Given the description of an element on the screen output the (x, y) to click on. 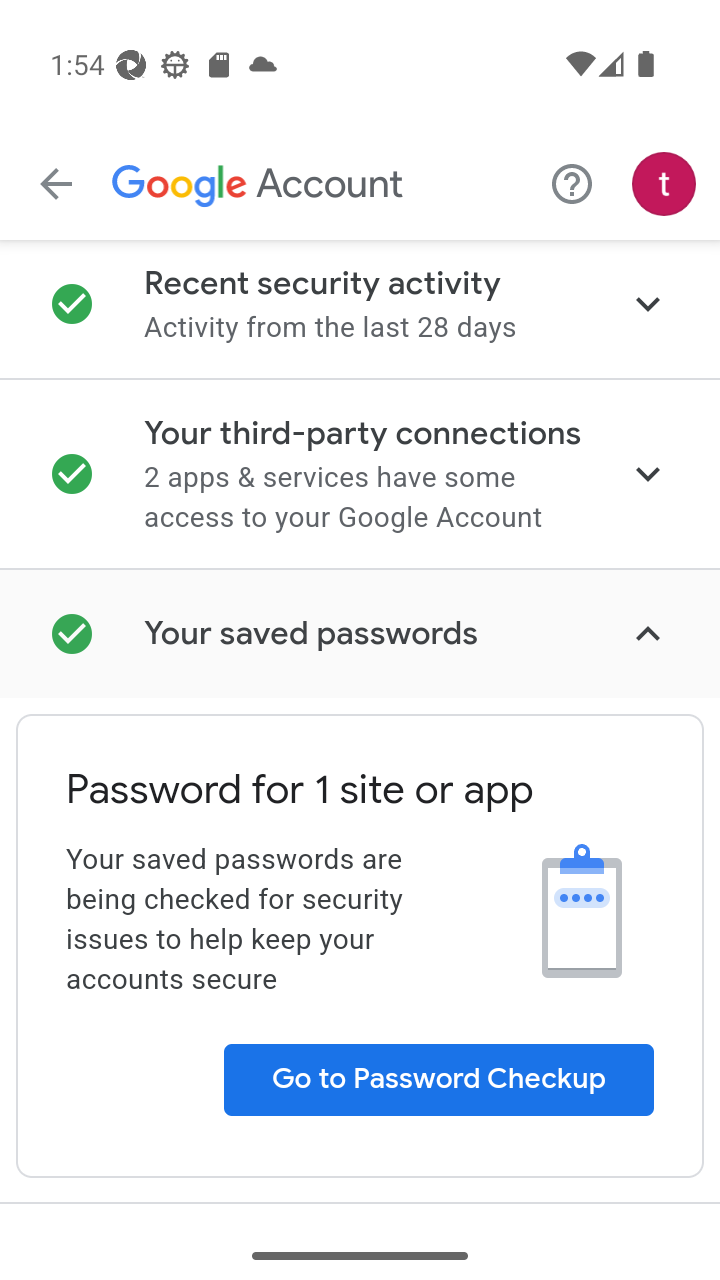
Navigate up (56, 184)
Help & feedback (571, 183)
Your saved passwords (360, 633)
Go to Password Checkup (437, 1080)
